Given the description of an element on the screen output the (x, y) to click on. 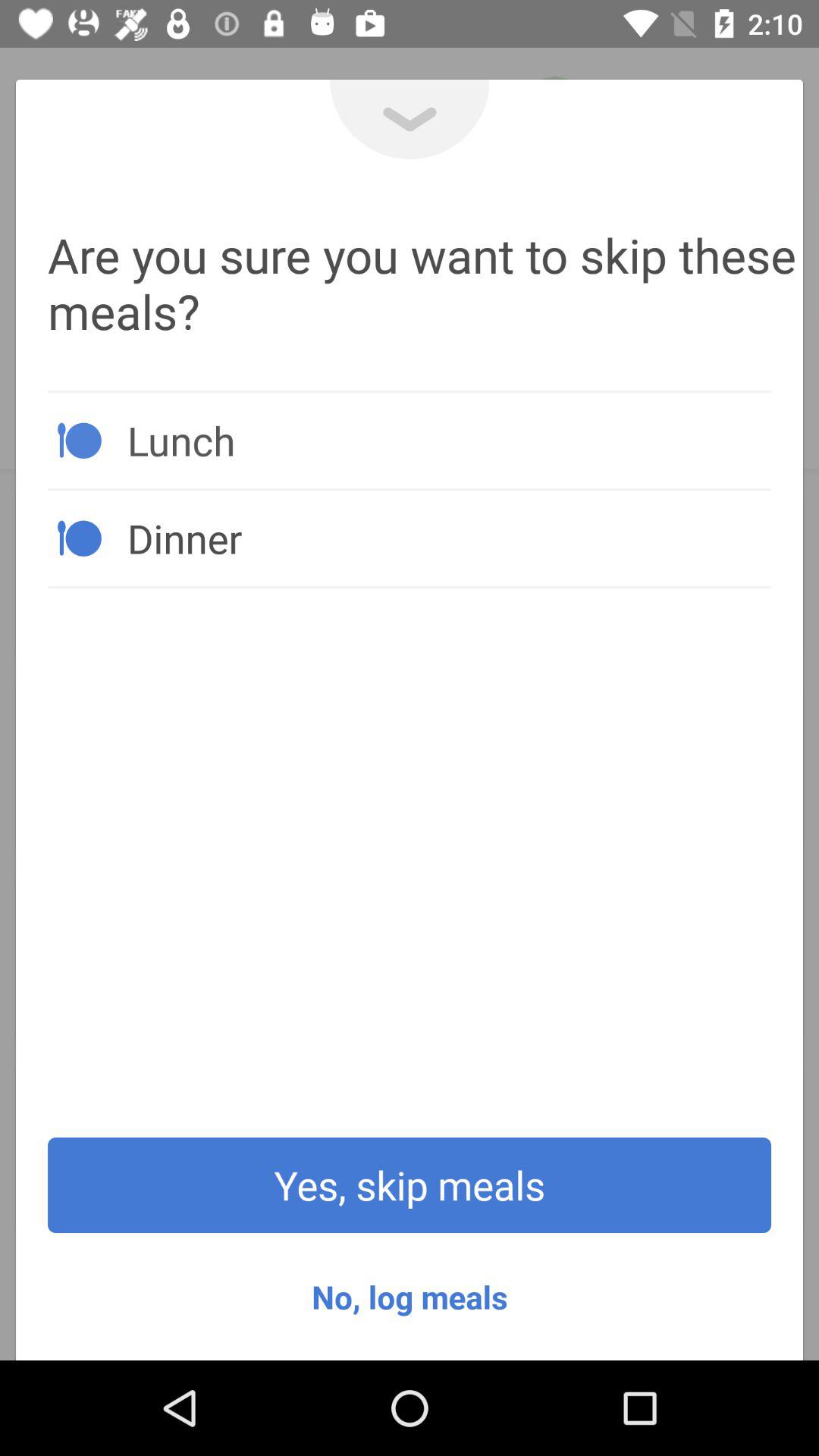
tap the item below lunch item (449, 537)
